Given the description of an element on the screen output the (x, y) to click on. 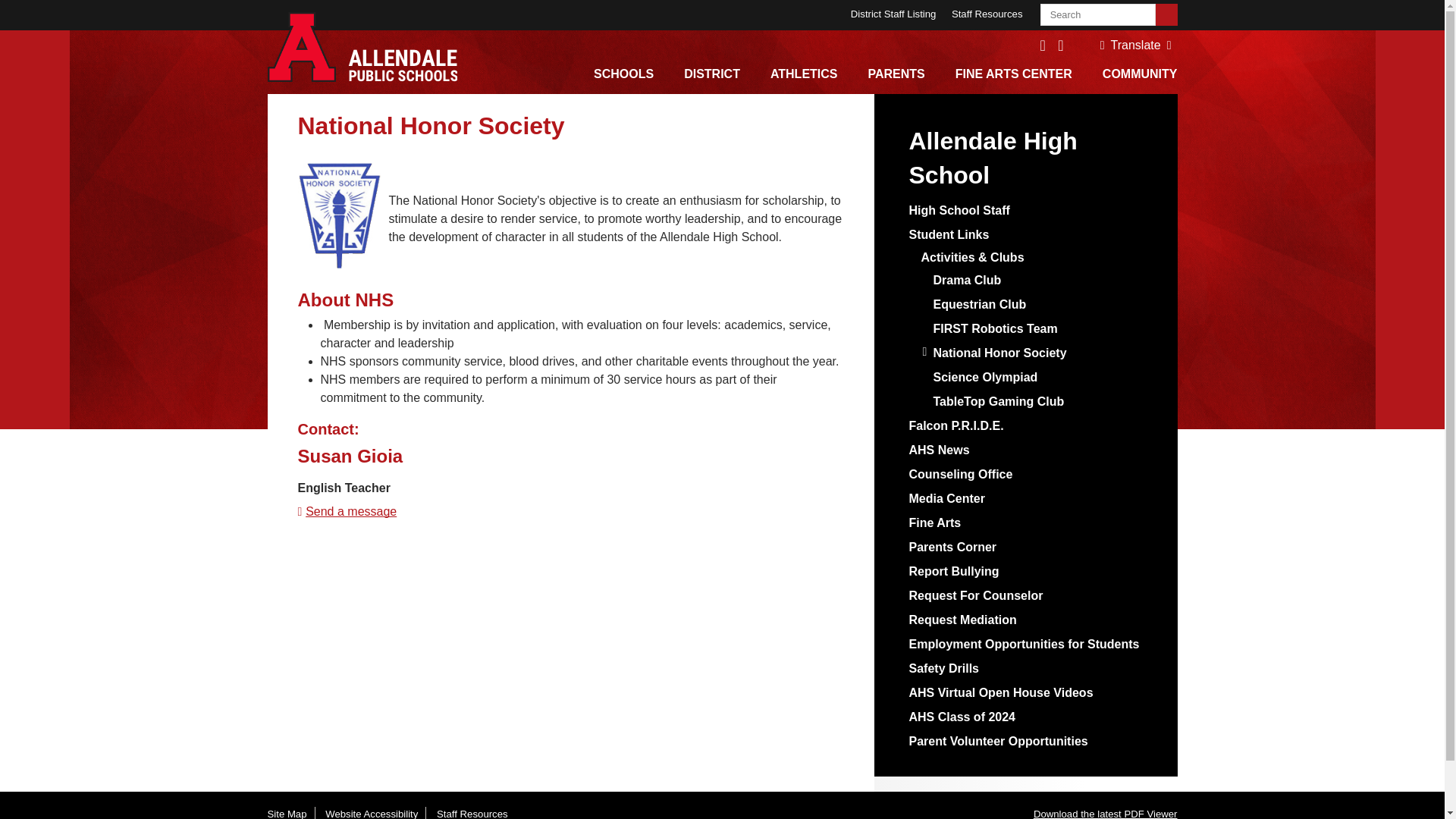
DISTRICT (711, 71)
SCHOOLS (623, 71)
Search (1166, 14)
